Given the description of an element on the screen output the (x, y) to click on. 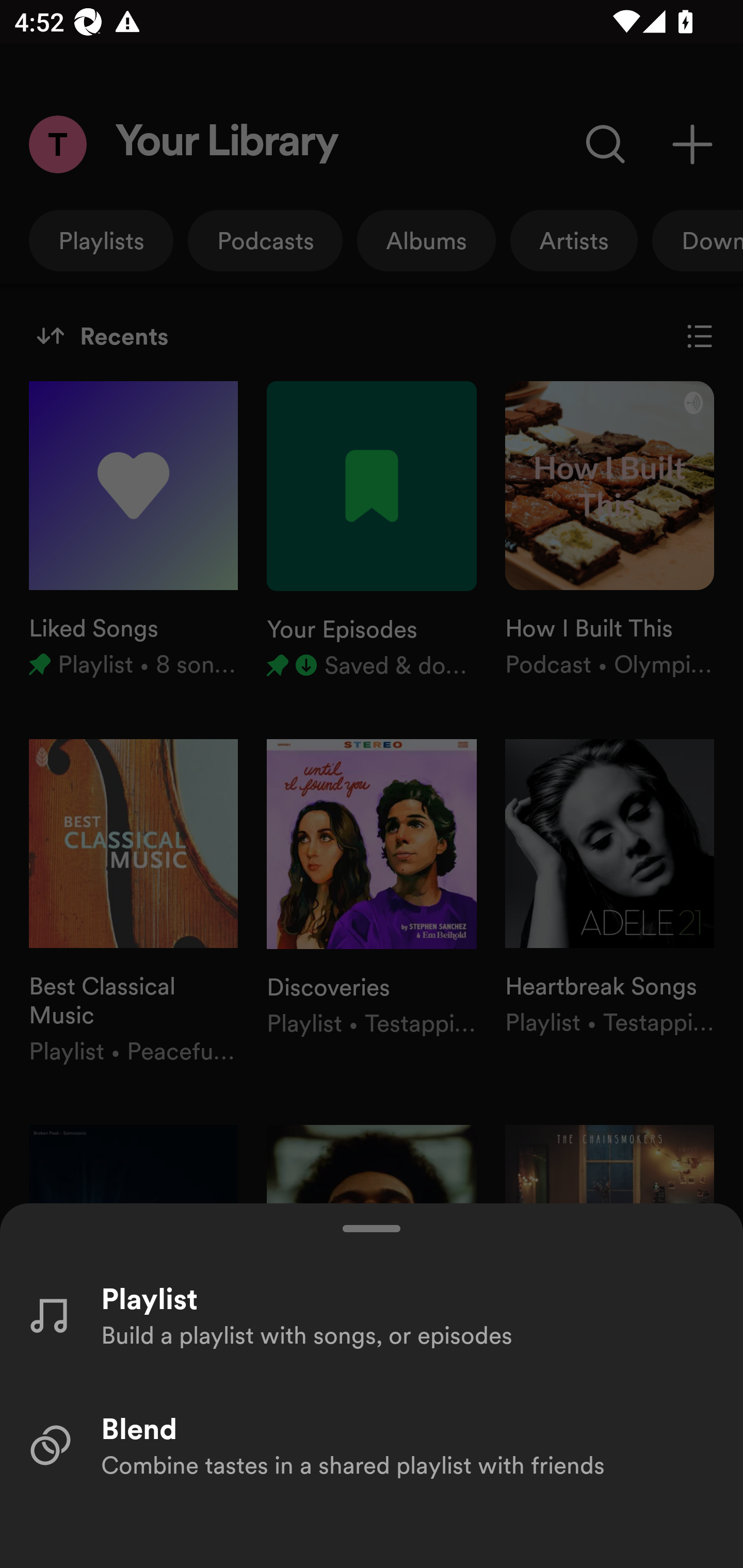
Playlist Build a playlist with songs, or episodes (371, 1314)
